Given the description of an element on the screen output the (x, y) to click on. 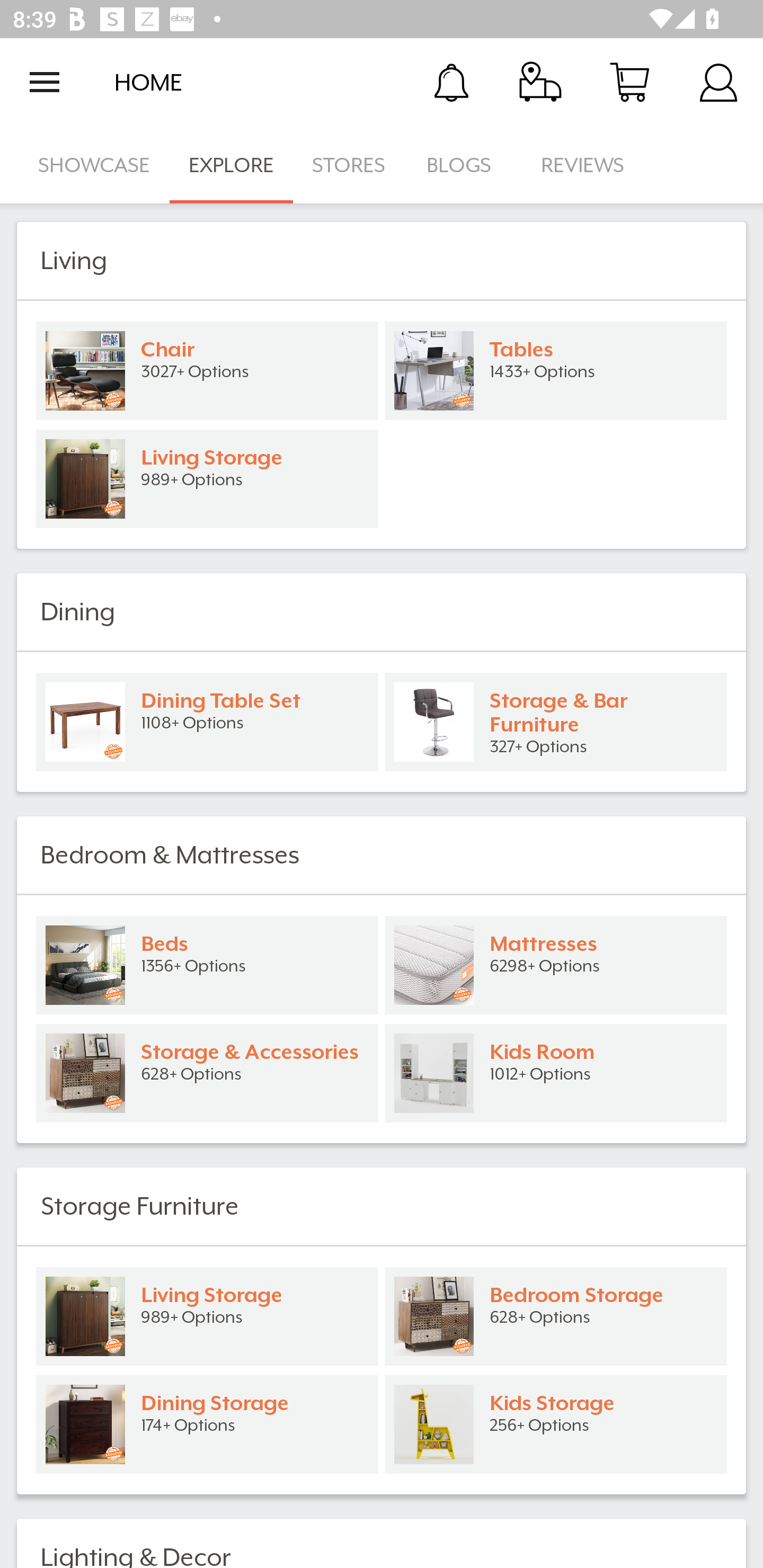
Open navigation drawer (44, 82)
Notification (450, 81)
Track Order (540, 81)
Cart (629, 81)
Account Details (718, 81)
SHOWCASE (94, 165)
EXPLORE (230, 165)
STORES (349, 165)
BLOGS (464, 165)
REVIEWS (582, 165)
Chair 3027+ Options (206, 370)
Tables 1433+ Options (555, 370)
Living Storage 989+ Options (206, 478)
Dining Table Set 1108+ Options (206, 721)
Storage & Bar Furniture 327+ Options (555, 721)
Beds 1356+ Options (206, 965)
Mattresses 6298+ Options (555, 965)
Storage & Accessories 628+ Options (206, 1073)
Kids Room 1012+ Options (555, 1073)
Living Storage 989+ Options (206, 1316)
Bedroom Storage 628+ Options (555, 1316)
Dining Storage 174+ Options (206, 1424)
Kids Storage 256+ Options (555, 1424)
